Given the description of an element on the screen output the (x, y) to click on. 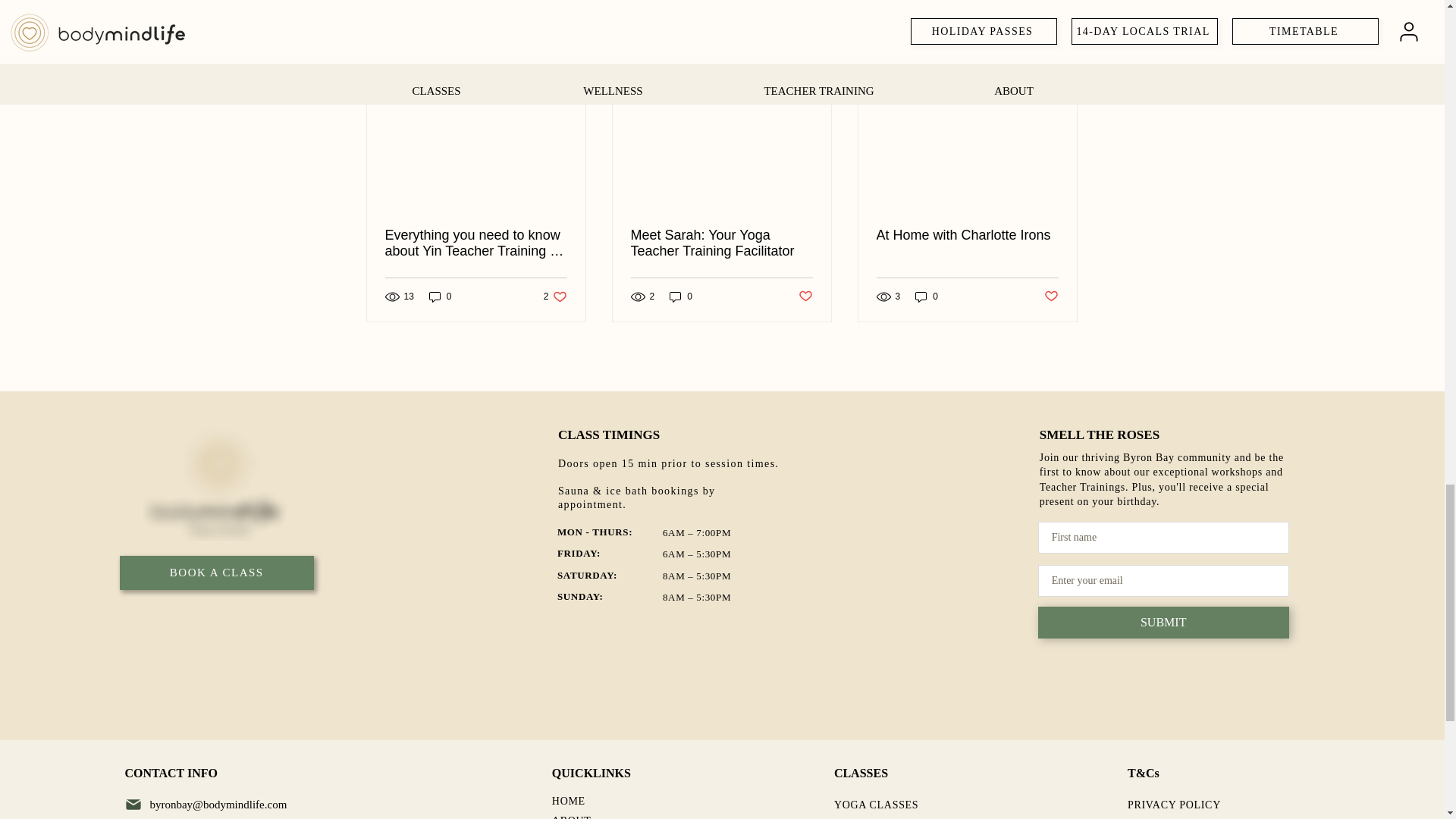
See All (1061, 59)
0 (555, 296)
